Given the description of an element on the screen output the (x, y) to click on. 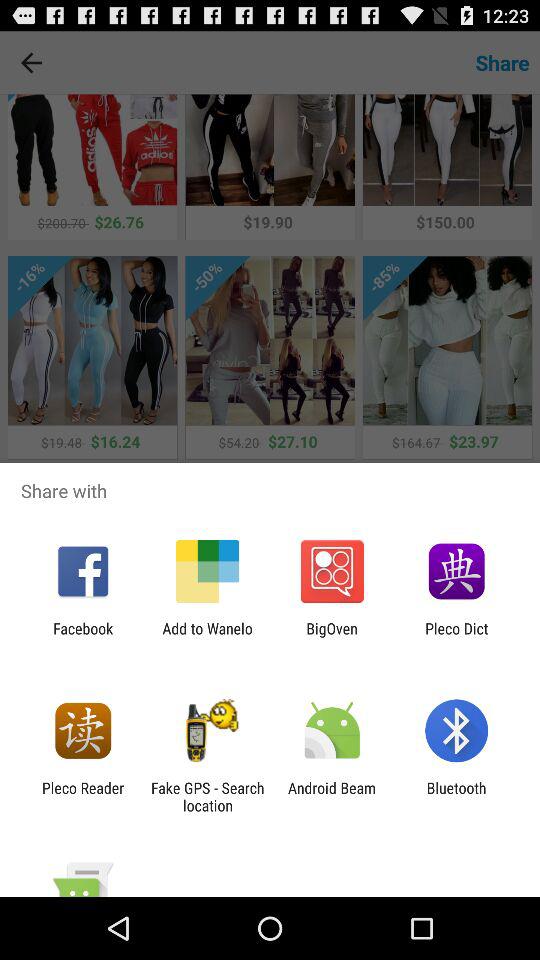
scroll to android beam (332, 796)
